Given the description of an element on the screen output the (x, y) to click on. 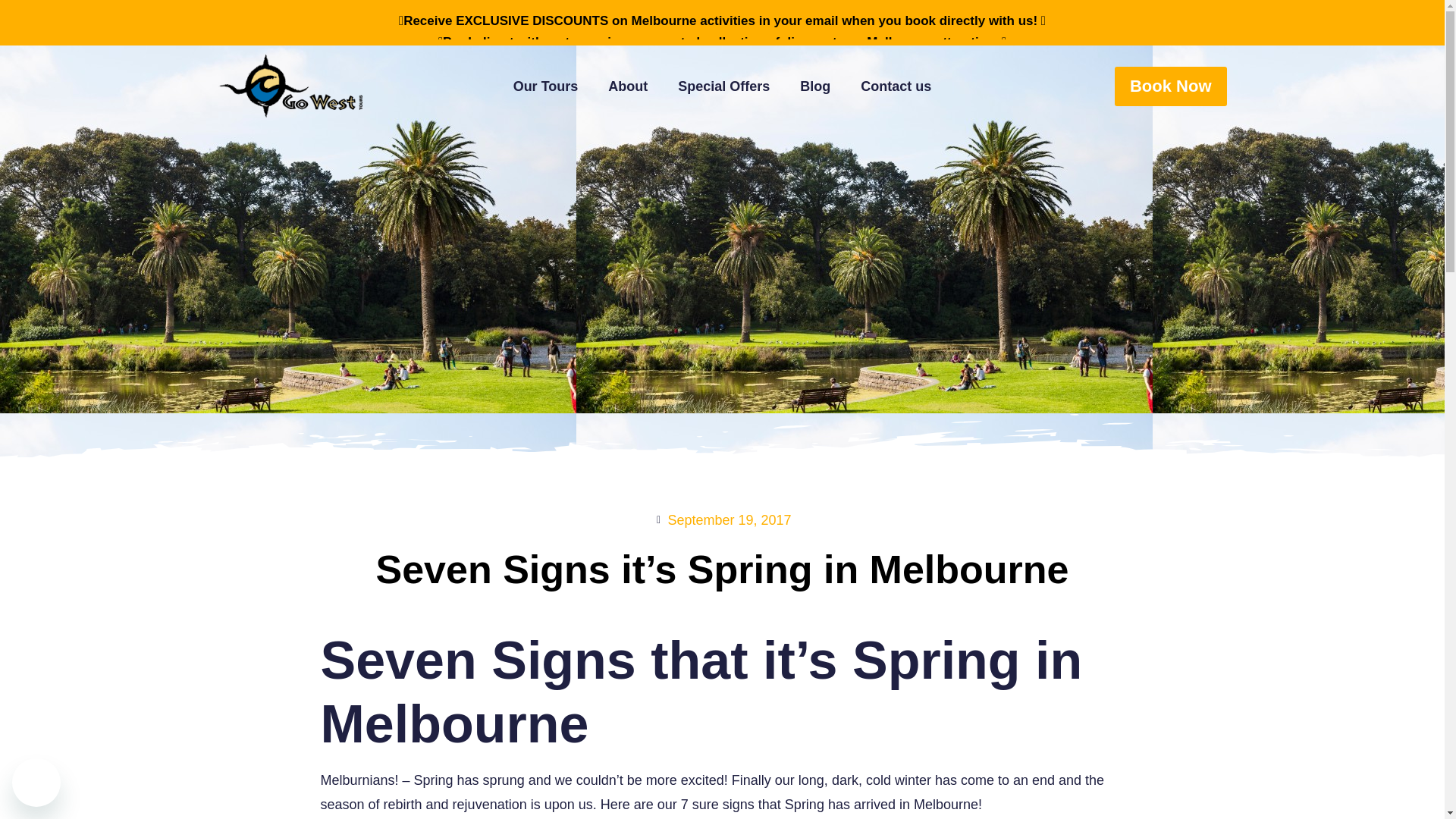
Contact us (895, 86)
Our Tours (545, 86)
About (627, 86)
Button to launch messaging window (36, 782)
Blog (814, 86)
Special Offers (723, 86)
